Given the description of an element on the screen output the (x, y) to click on. 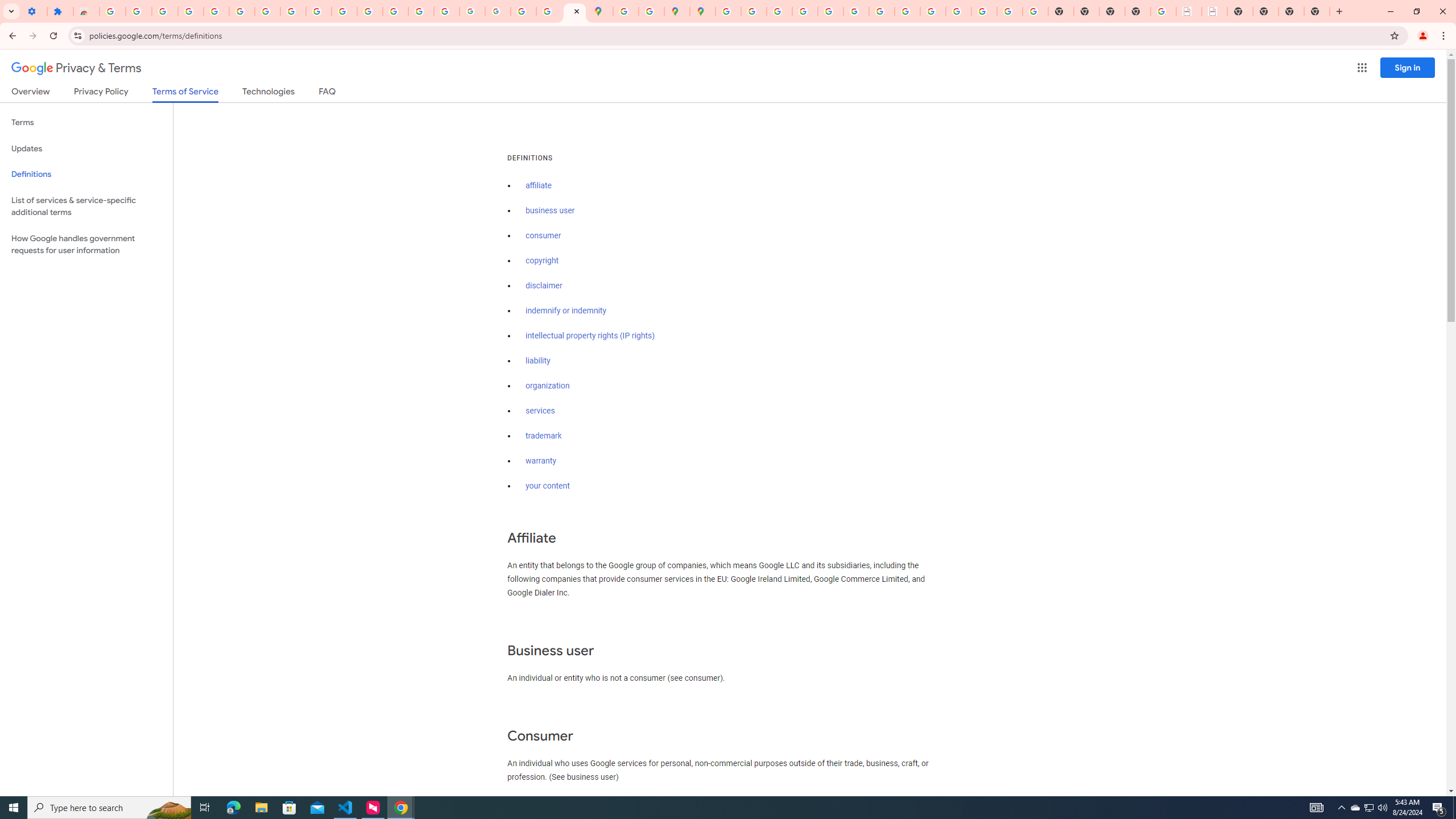
Google Maps (600, 11)
BAE Systems Brasil | BAE Systems (1213, 11)
Sign in - Google Accounts (242, 11)
Reviews: Helix Fruit Jump Arcade Game (86, 11)
